Given the description of an element on the screen output the (x, y) to click on. 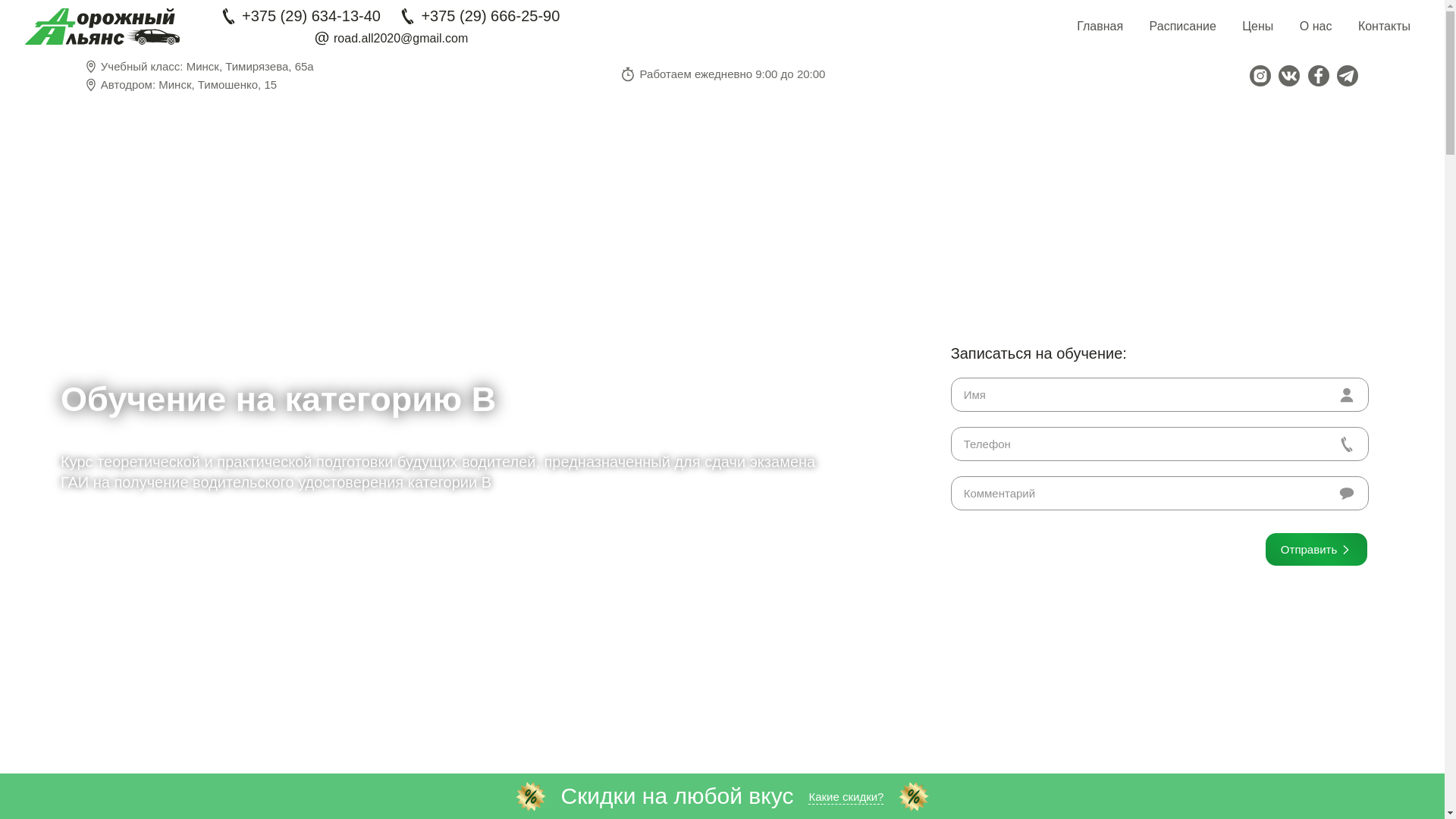
+375 (29) 666-25-90 Element type: text (478, 16)
road.all2020@gmail.com Element type: text (389, 38)
+375 (29) 634-13-40 Element type: text (299, 16)
